Given the description of an element on the screen output the (x, y) to click on. 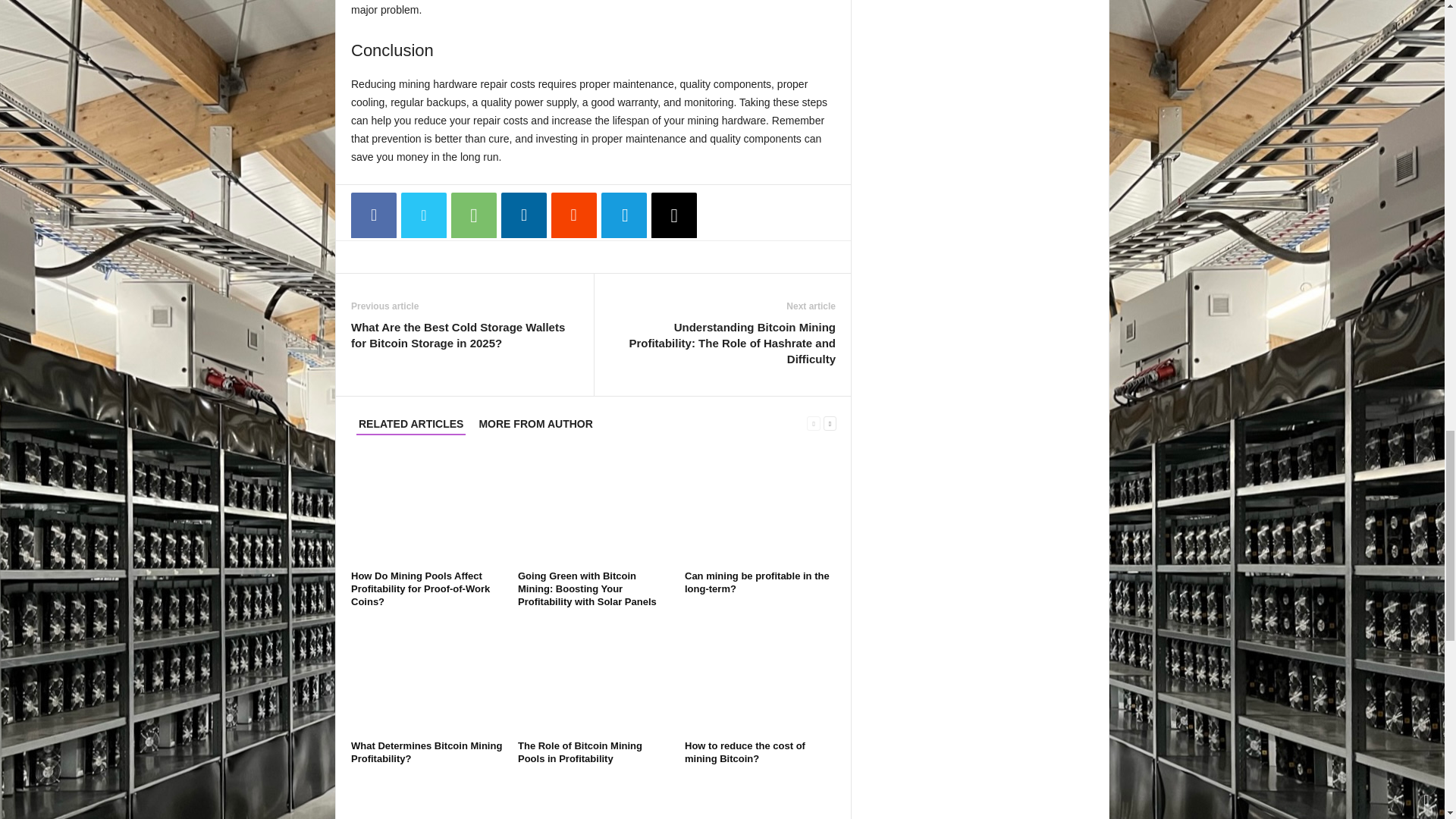
Telegram (623, 215)
ReddIt (573, 215)
Facebook (373, 215)
Copy URL (673, 215)
Linkedin (523, 215)
Twitter (423, 215)
WhatsApp (473, 215)
